Given the description of an element on the screen output the (x, y) to click on. 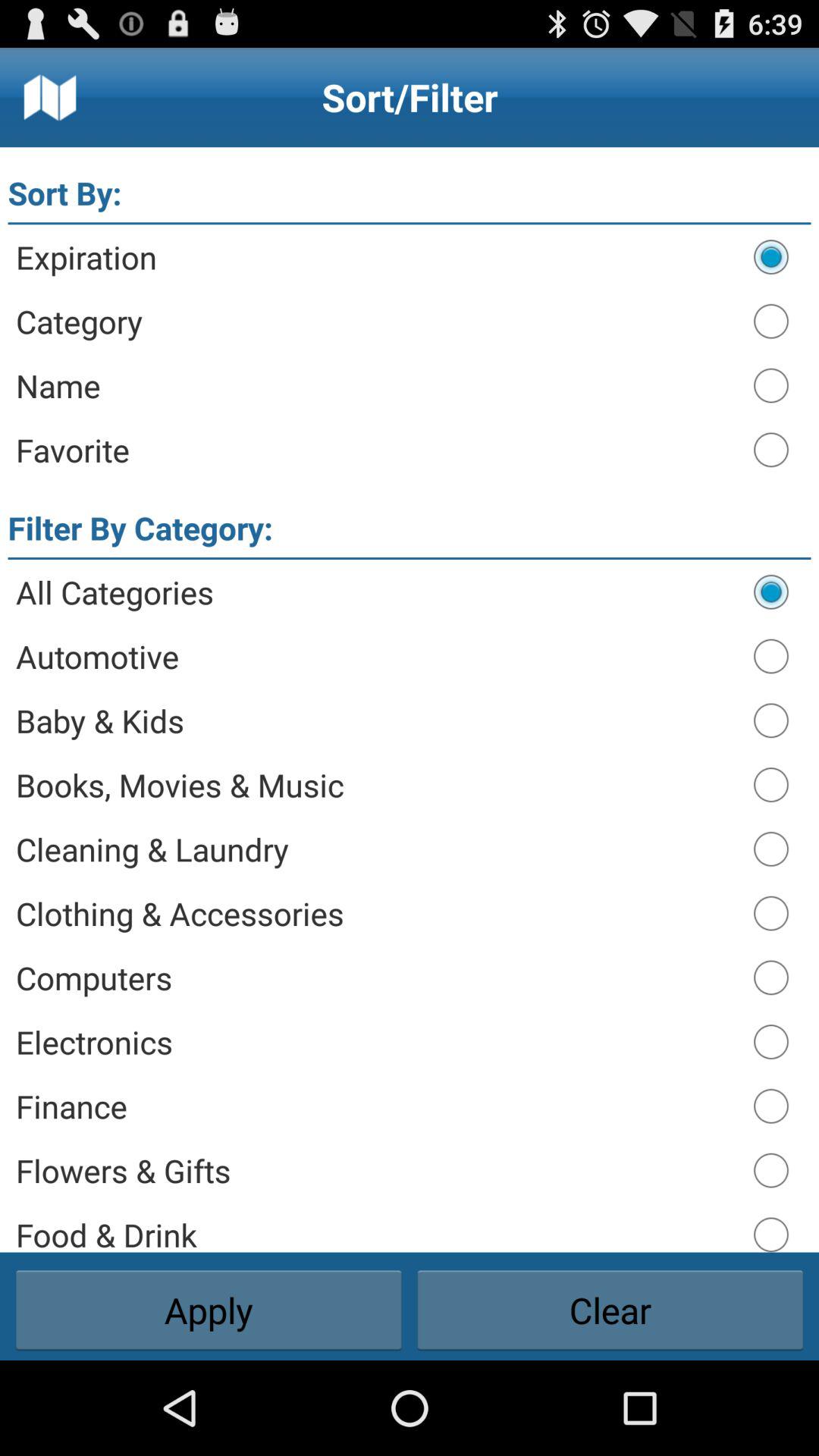
scroll until filter by category: icon (140, 527)
